Given the description of an element on the screen output the (x, y) to click on. 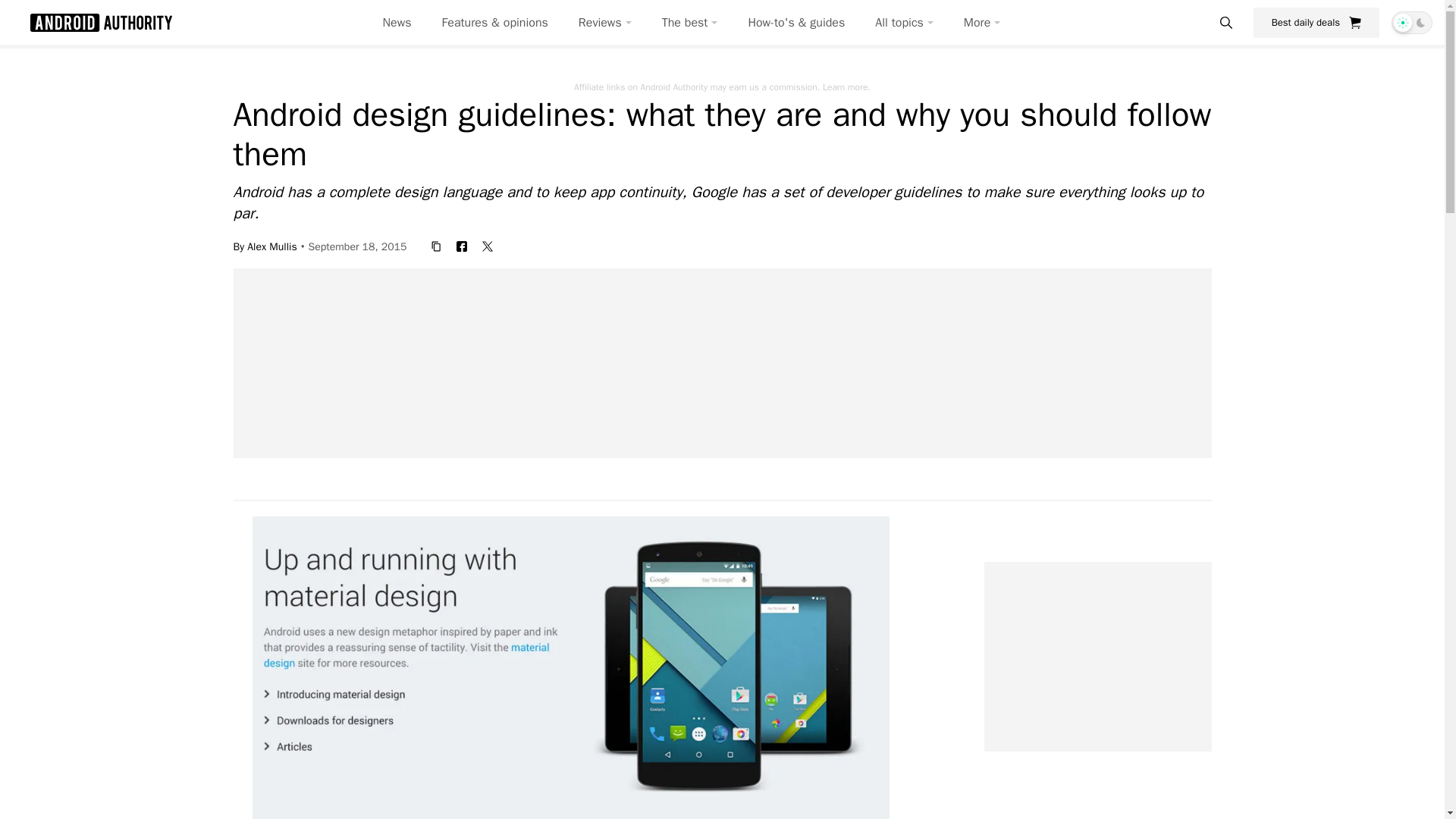
All topics (904, 22)
Reviews (604, 22)
3rd party ad content (722, 363)
3rd party ad content (731, 800)
3rd party ad content (1097, 656)
The best (689, 22)
Learn more. (846, 86)
facebook (461, 246)
twitter (487, 246)
Alex Mullis (272, 245)
Best daily deals (1315, 22)
